Given the description of an element on the screen output the (x, y) to click on. 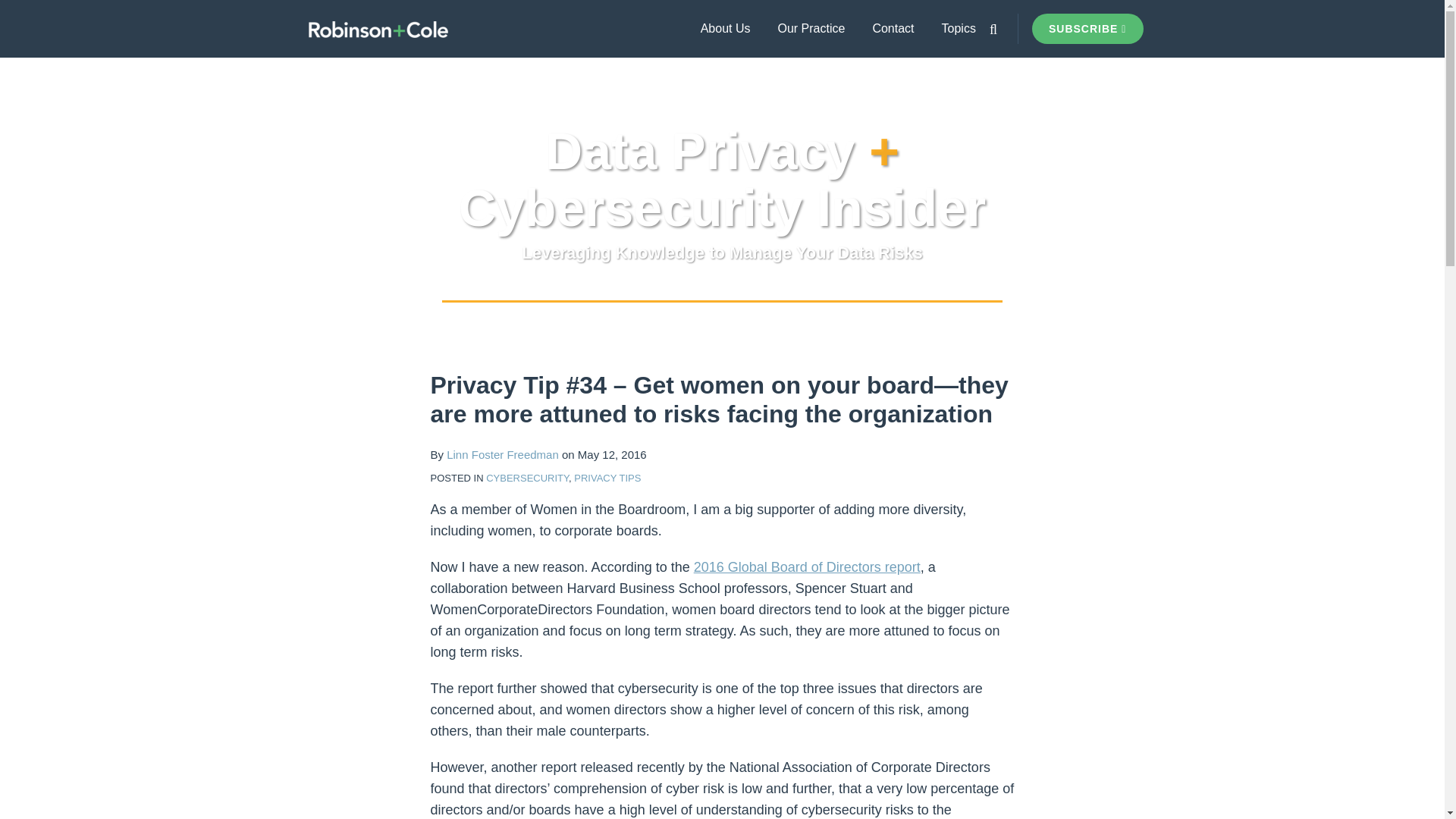
CYBERSECURITY (527, 478)
Contact (893, 28)
Our Practice (810, 28)
PRIVACY TIPS (606, 478)
2016 Global Board of Directors report (807, 566)
Topics (958, 28)
Linn Foster Freedman (502, 454)
About Us (725, 28)
SUBSCRIBE (1087, 28)
